Given the description of an element on the screen output the (x, y) to click on. 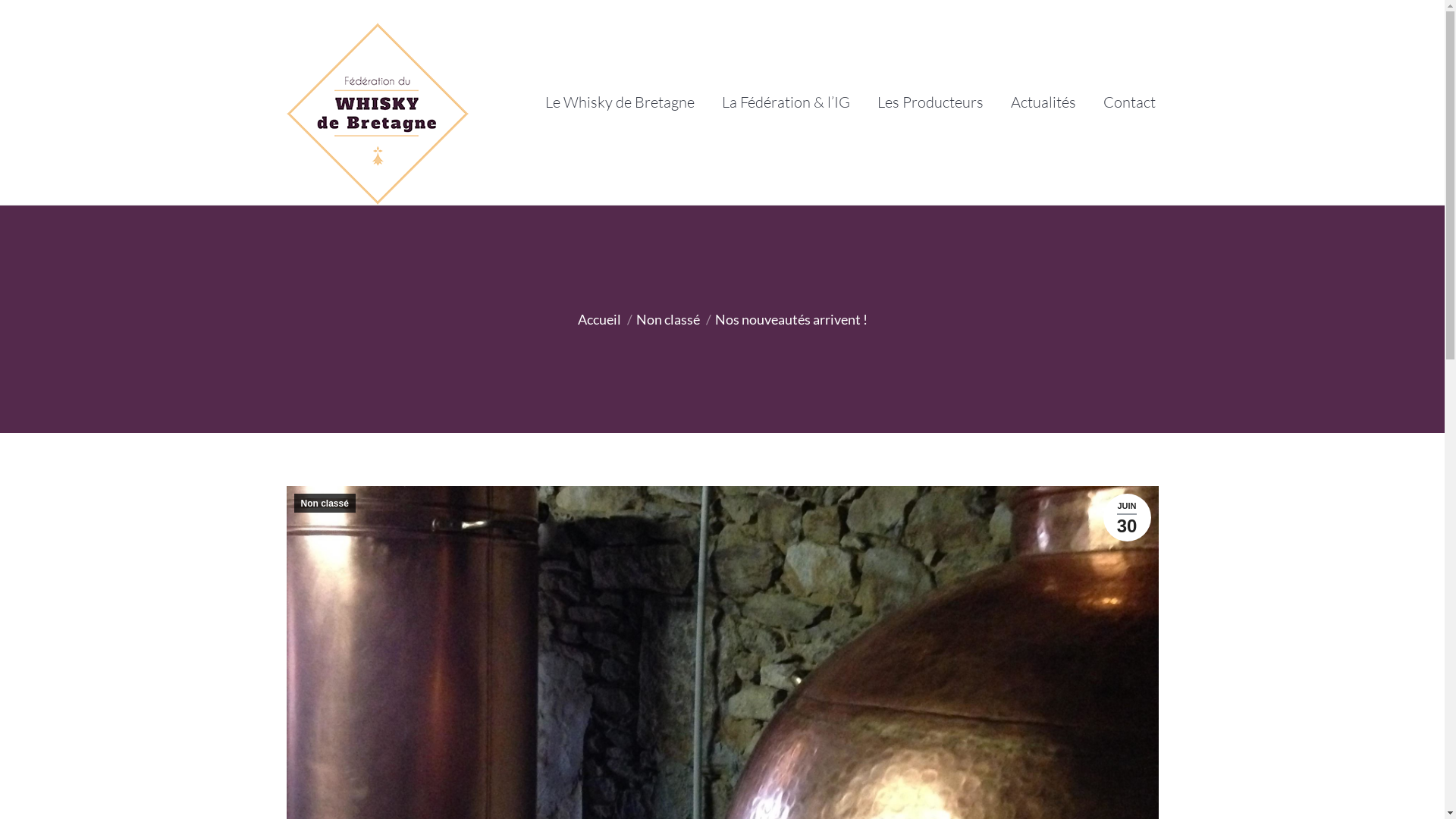
Le Whisky de Bretagne Element type: text (618, 102)
Contact Element type: text (1128, 102)
Accueil Element type: text (599, 318)
JUIN
30 Element type: text (1126, 517)
Les Producteurs Element type: text (929, 102)
